Given the description of an element on the screen output the (x, y) to click on. 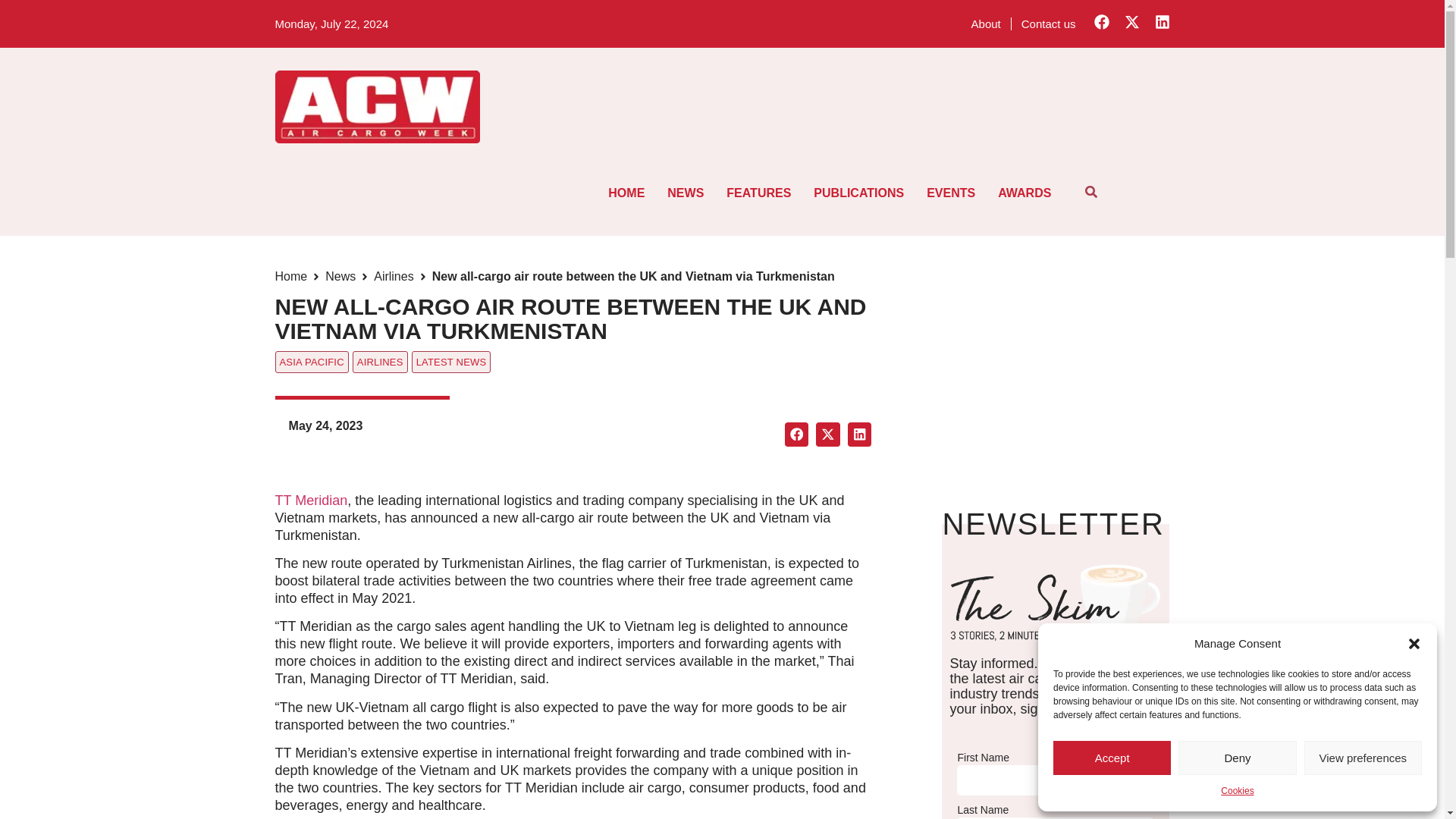
News (339, 276)
NEWS (685, 193)
Home (291, 276)
Airlines (393, 276)
About (985, 22)
View preferences (1363, 757)
Contact us (1048, 22)
HOME (626, 193)
Cookies (1237, 791)
LATEST NEWS (452, 362)
Home (291, 276)
Accept (1111, 757)
Deny (1236, 757)
FEATURES (758, 193)
EVENTS (951, 193)
